Given the description of an element on the screen output the (x, y) to click on. 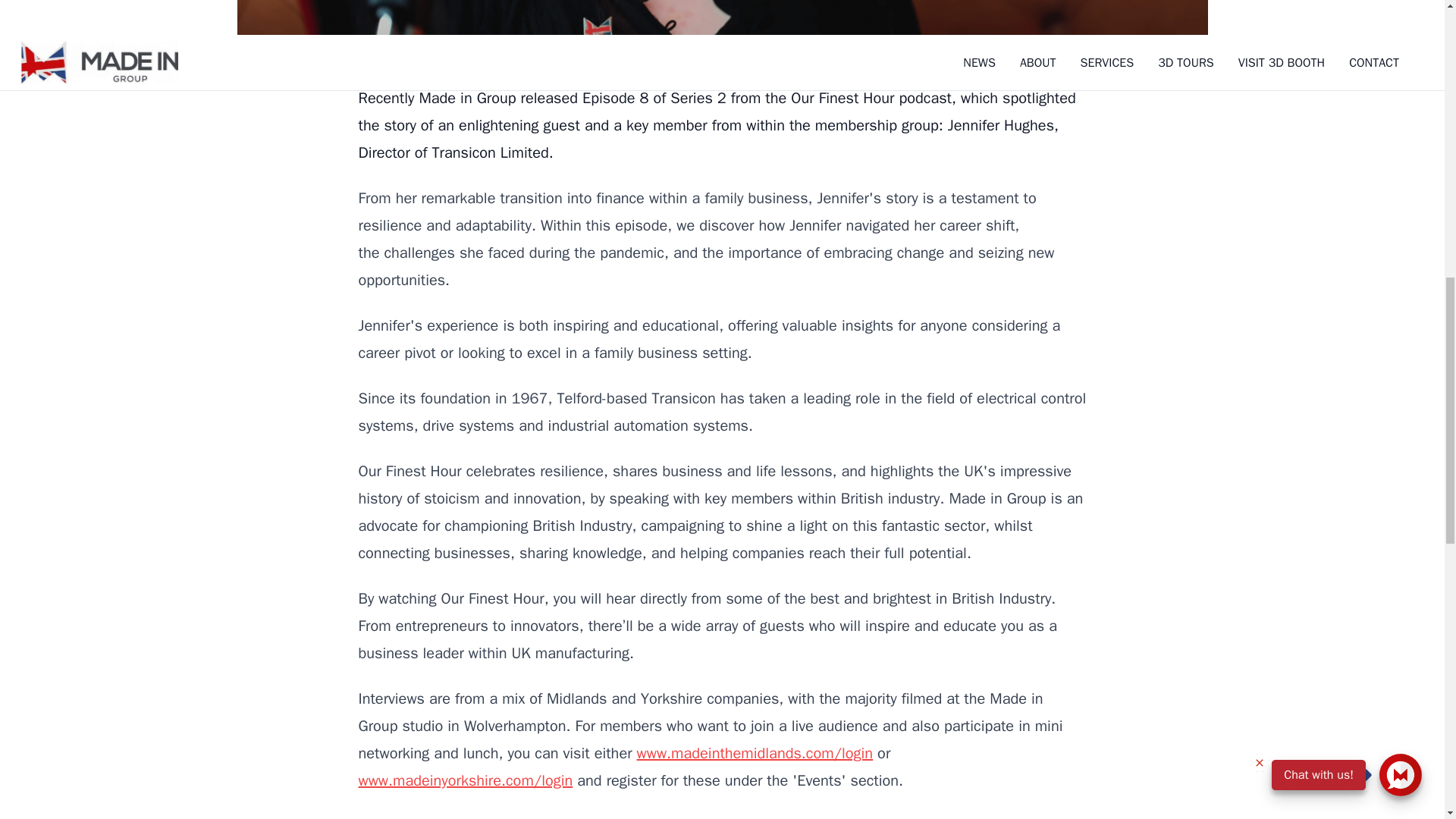
st H (786, 817)
Our Fine (745, 817)
our YouTube channel (869, 817)
